Given the description of an element on the screen output the (x, y) to click on. 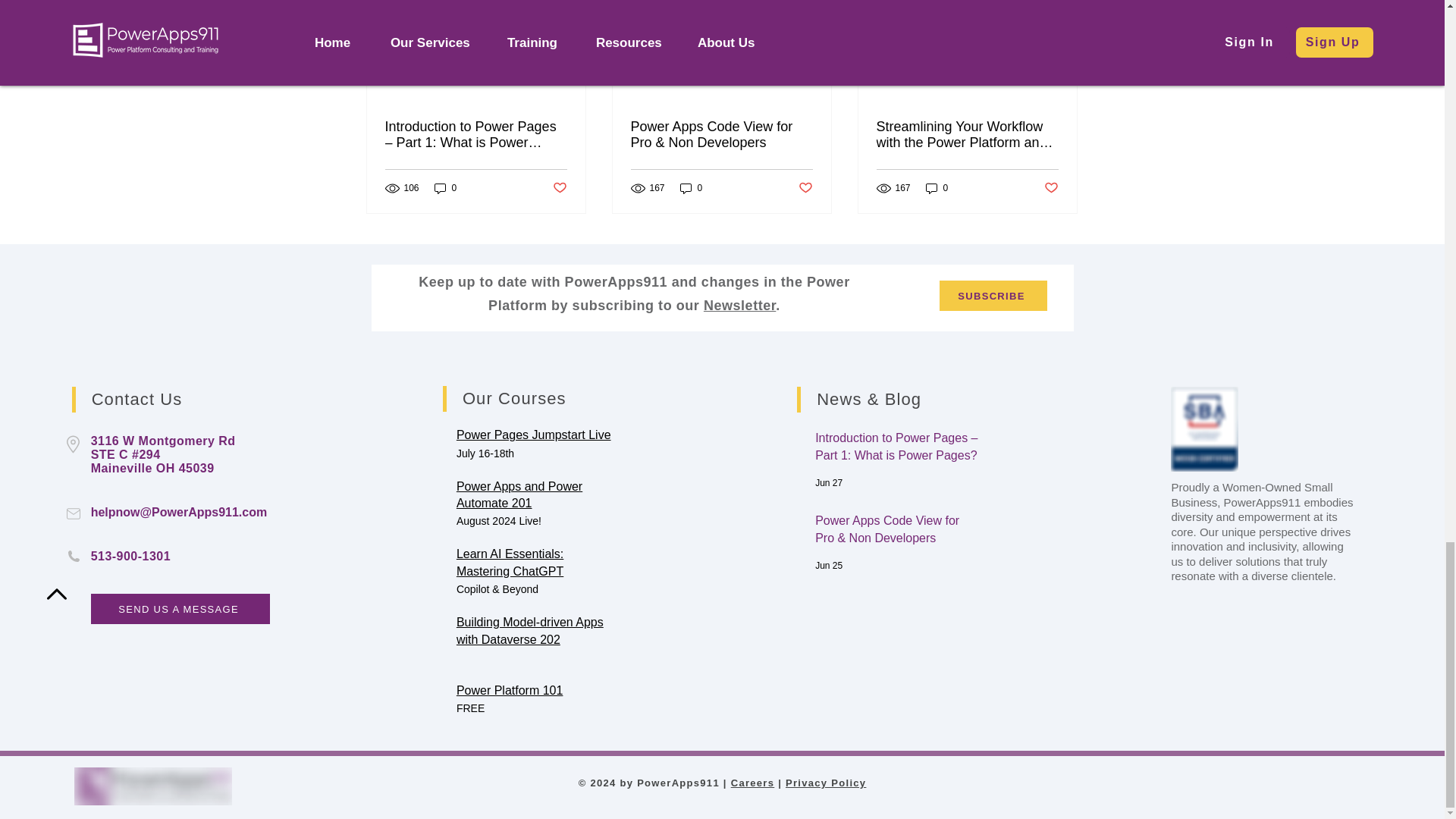
Jun 27 (829, 482)
0 (445, 187)
Jun 25 (829, 565)
Post not marked as liked (558, 188)
